Given the description of an element on the screen output the (x, y) to click on. 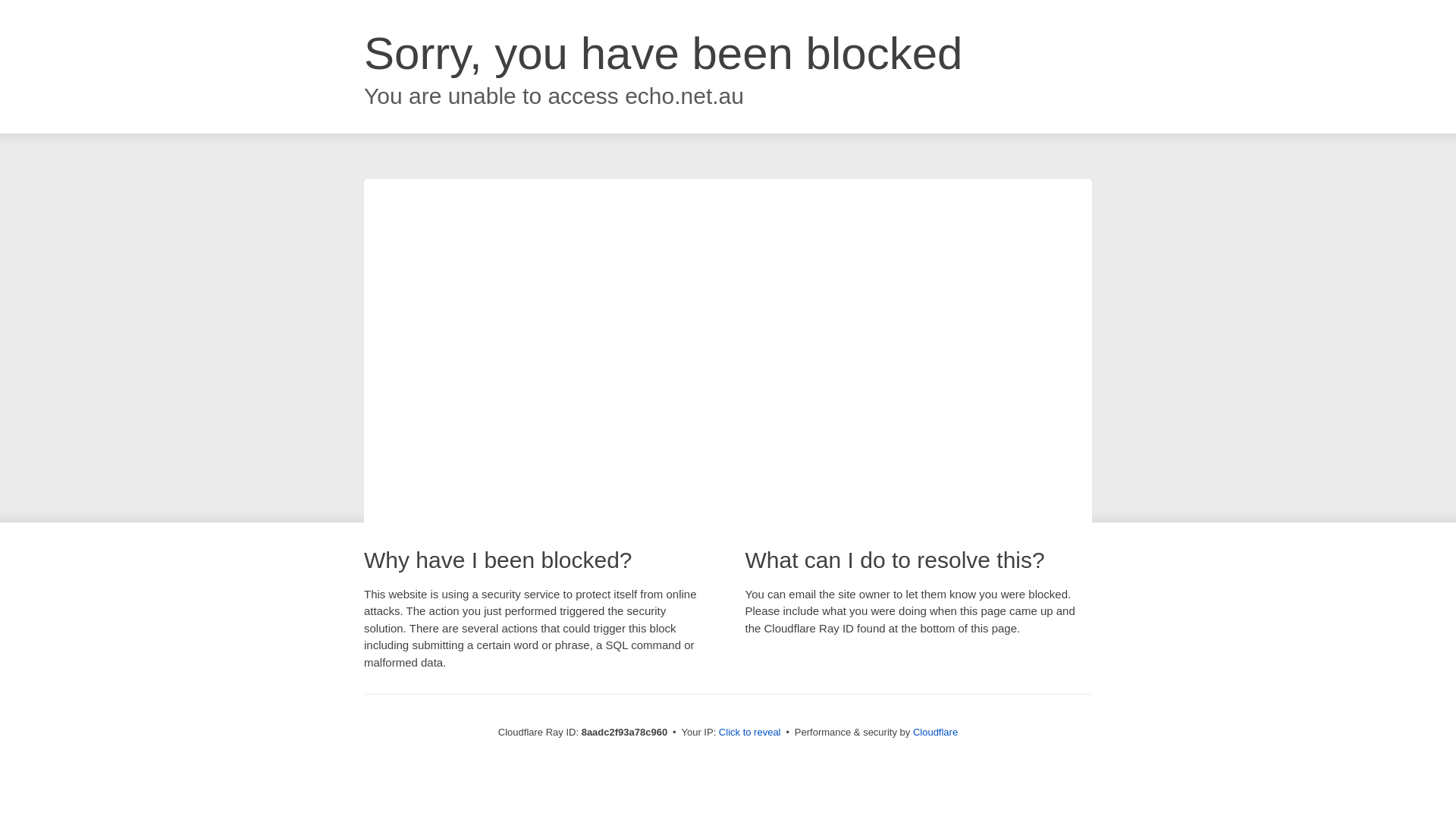
Click to reveal (749, 732)
Cloudflare (935, 731)
